Given the description of an element on the screen output the (x, y) to click on. 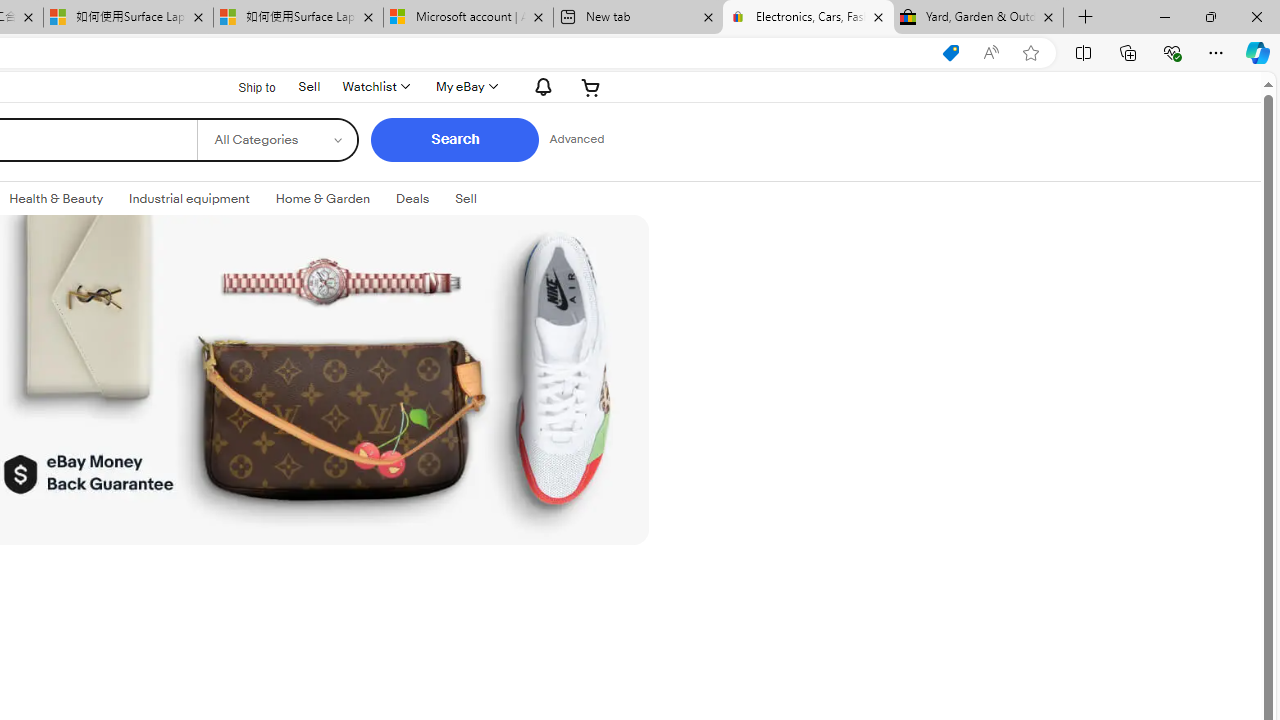
Watchlist (374, 86)
Select a category for search (277, 139)
My eBayExpand My eBay (464, 86)
Expand Cart (591, 86)
Electronics, Cars, Fashion, Collectibles & More | eBay (808, 17)
Health & Beauty (55, 198)
Deals (412, 198)
Advanced Search (576, 139)
